Given the description of an element on the screen output the (x, y) to click on. 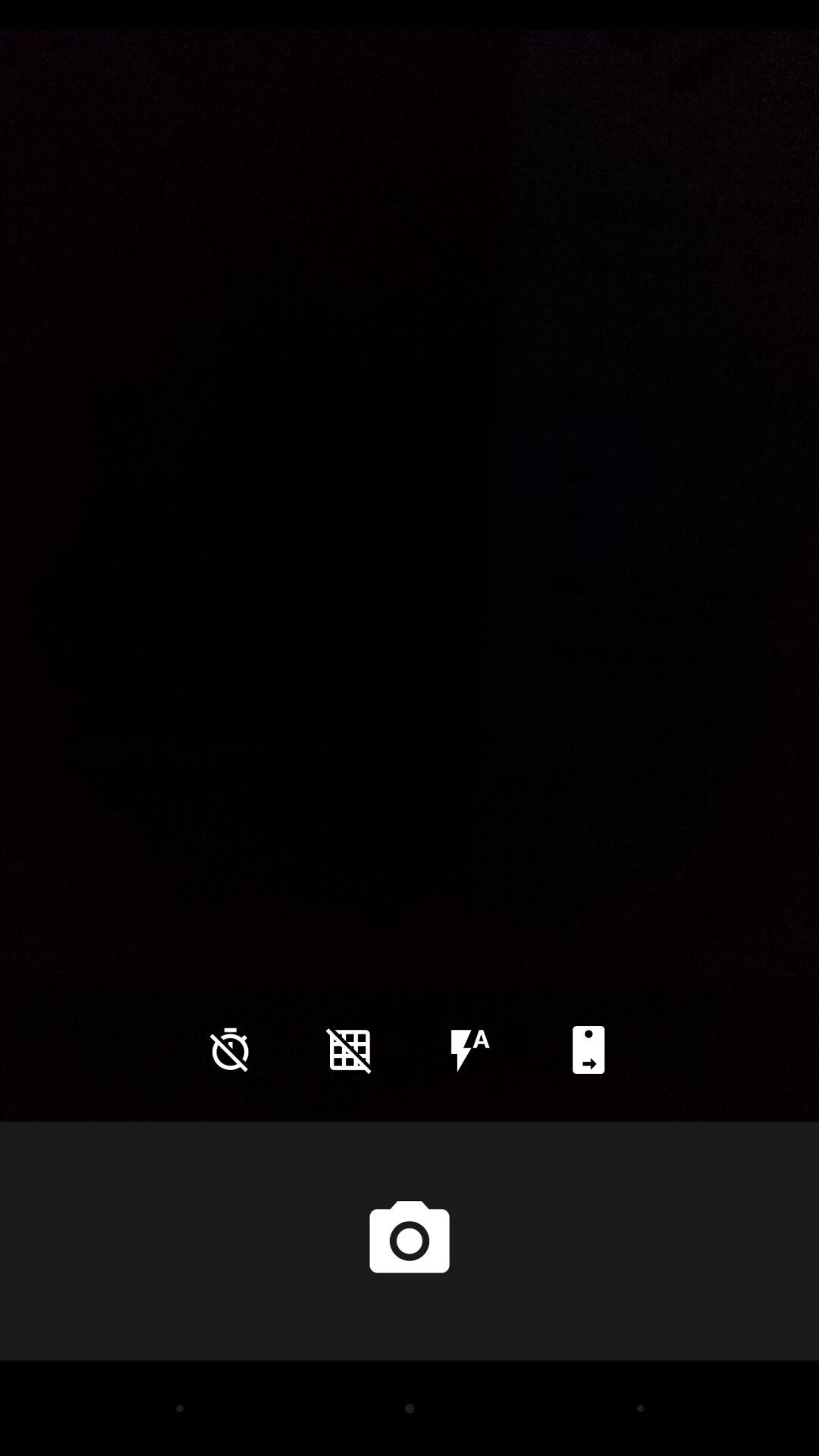
launch icon at the bottom right corner (588, 1049)
